Given the description of an element on the screen output the (x, y) to click on. 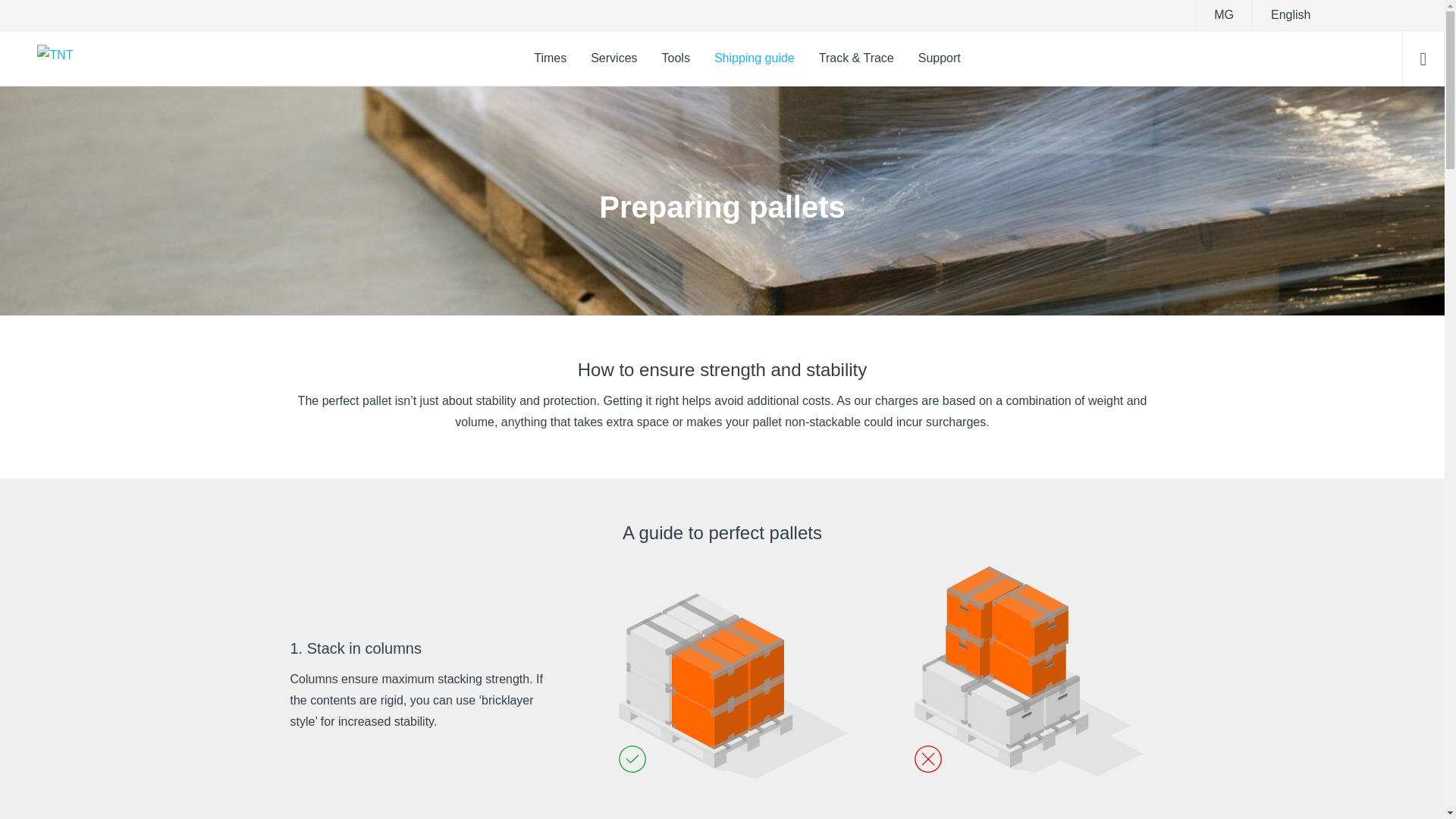
Support (938, 58)
MG (1223, 15)
Tools (675, 58)
Services (613, 58)
Shipping guide (753, 58)
home (46, 58)
English (1289, 15)
Times (549, 58)
